Given the description of an element on the screen output the (x, y) to click on. 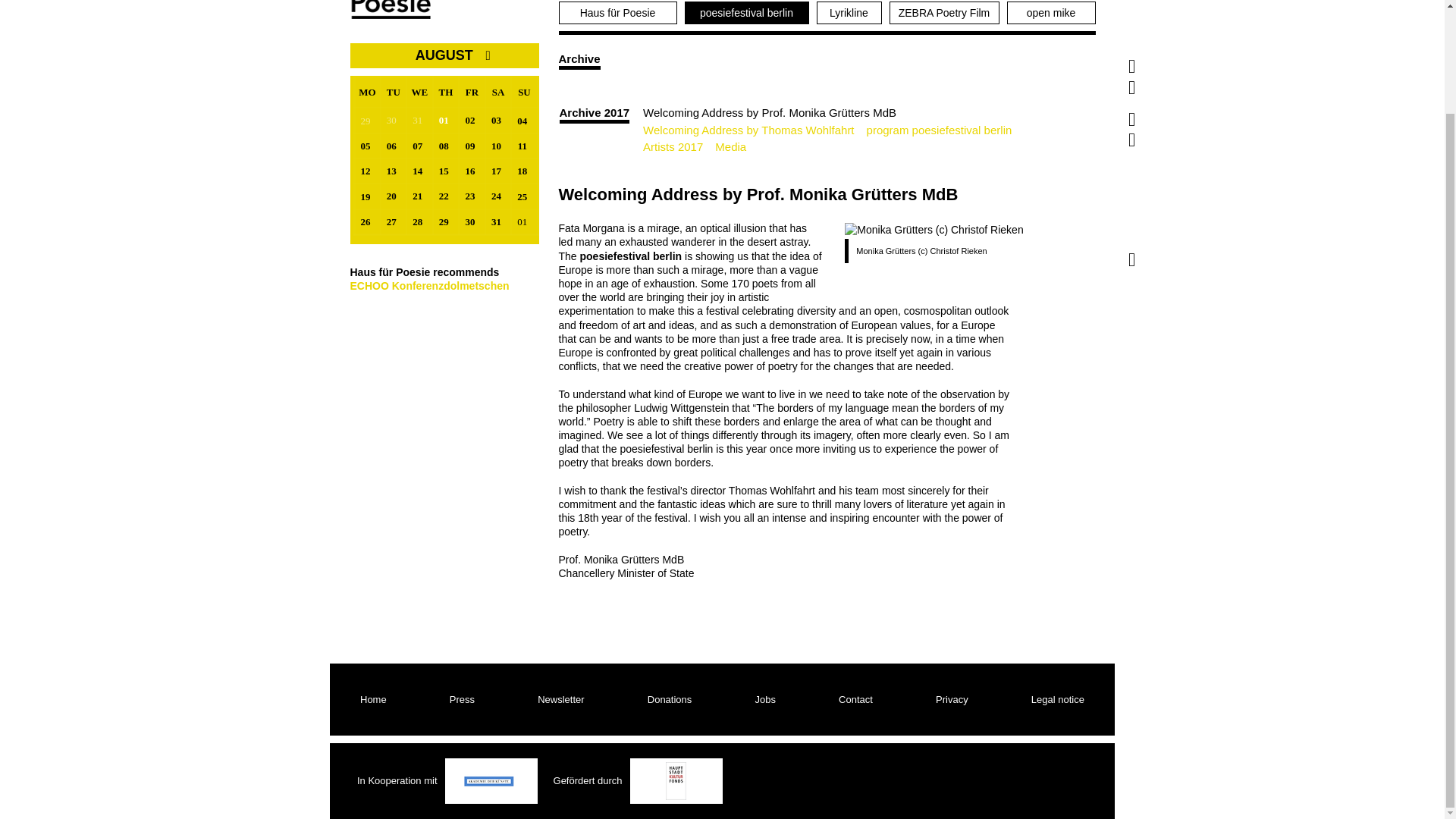
29 (366, 120)
30 (393, 119)
Das Poesiefestival-Berlin bei Facebook (1130, 4)
